Given the description of an element on the screen output the (x, y) to click on. 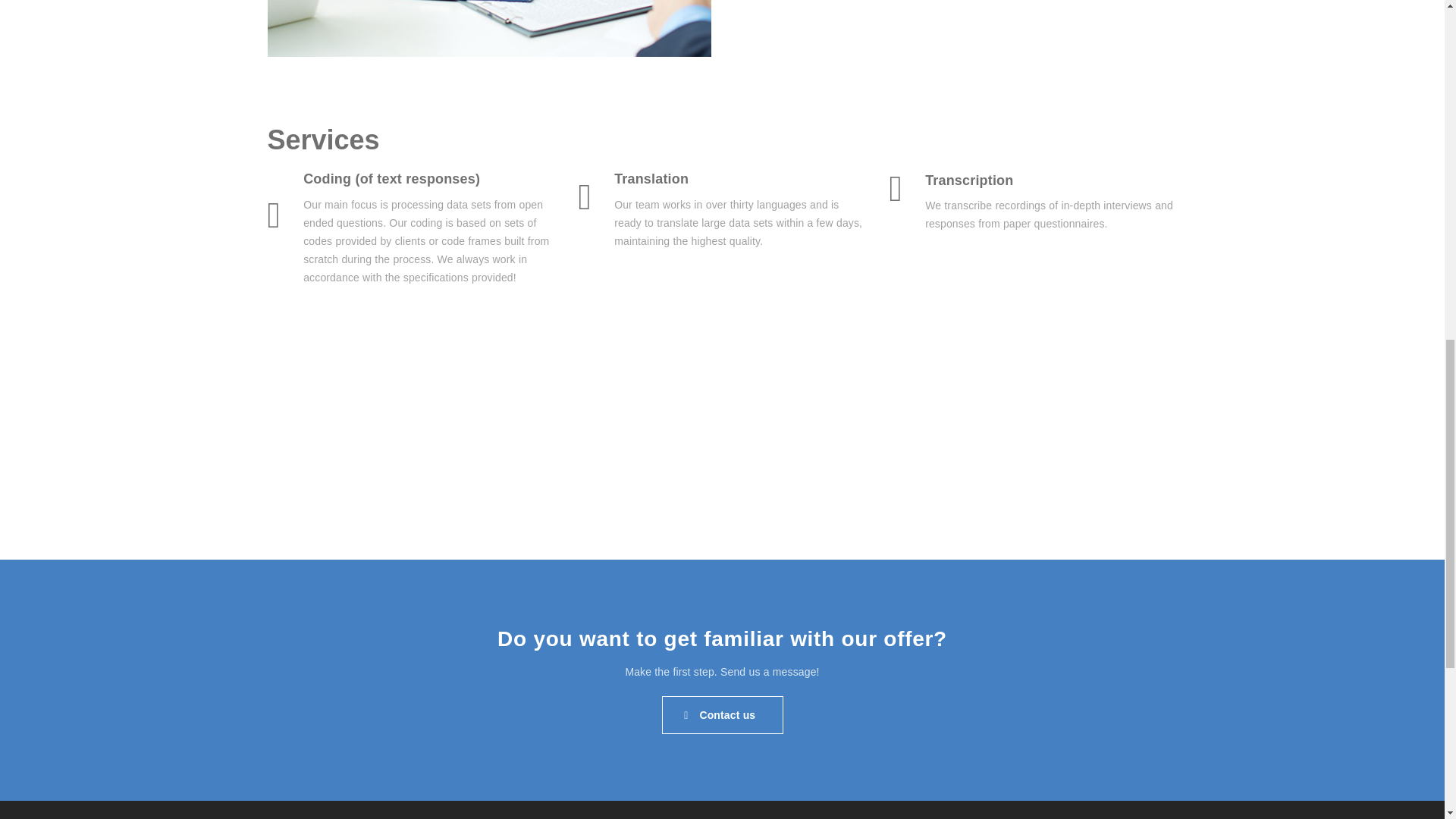
Contact us (722, 714)
